Given the description of an element on the screen output the (x, y) to click on. 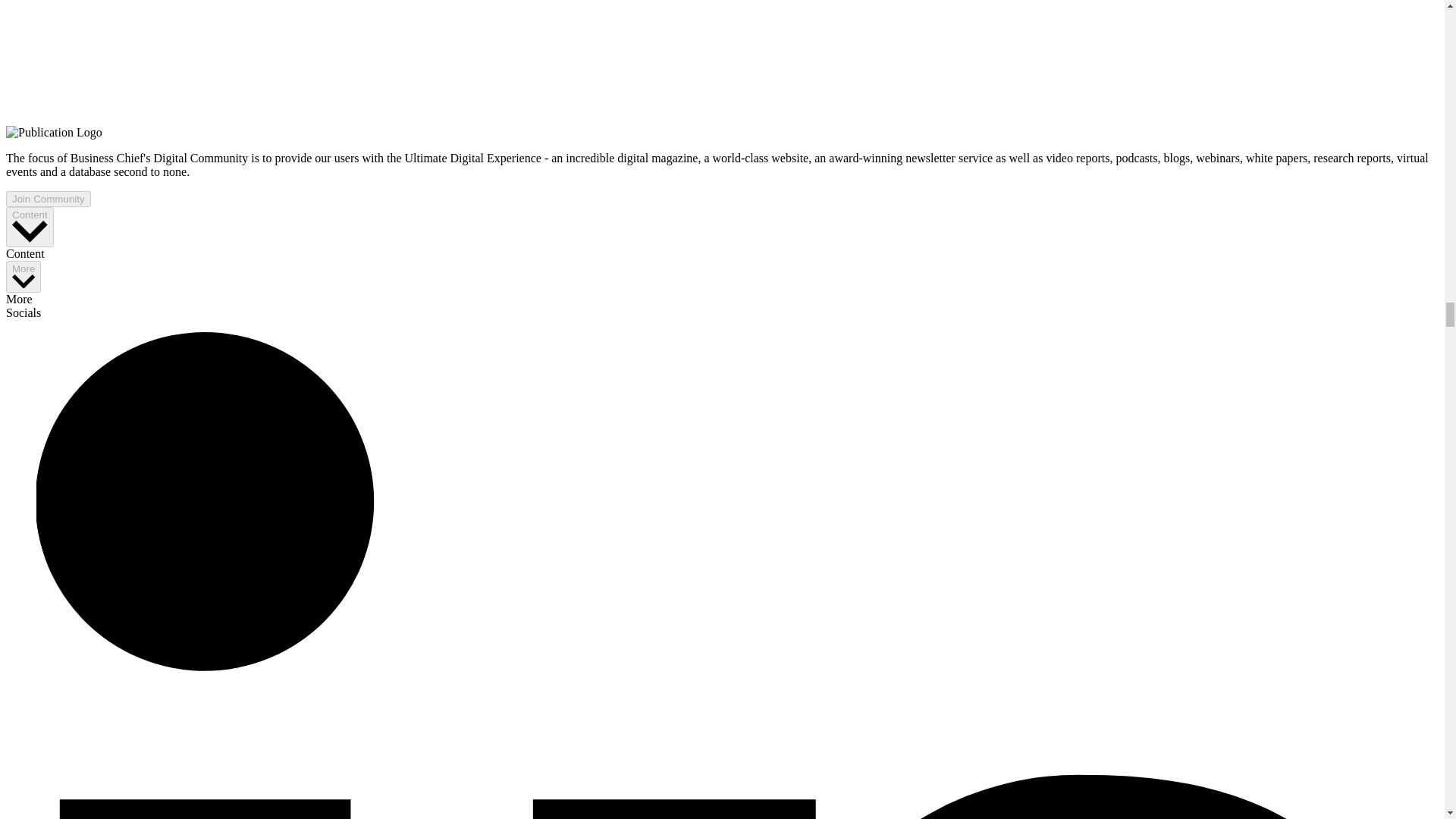
Content (29, 227)
Join Community (47, 198)
